Given the description of an element on the screen output the (x, y) to click on. 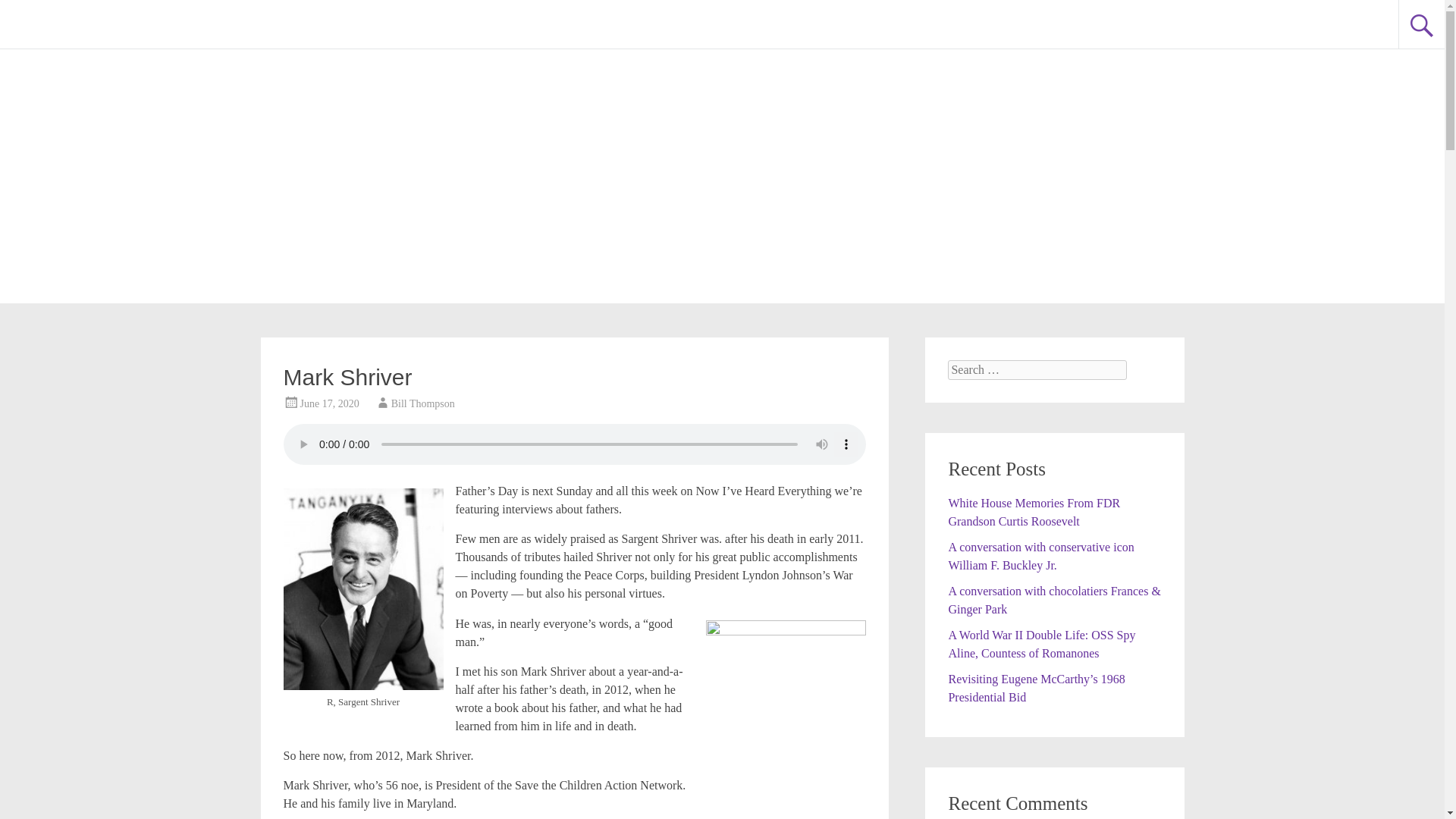
A conversation with conservative icon William F. Buckley Jr. (1040, 555)
White House Memories From FDR Grandson Curtis Roosevelt (1033, 511)
Bill Thompson (422, 403)
Now I've Heard Everything (179, 23)
Now I've Heard Everything (179, 23)
Search (26, 12)
June 17, 2020 (329, 403)
